Given the description of an element on the screen output the (x, y) to click on. 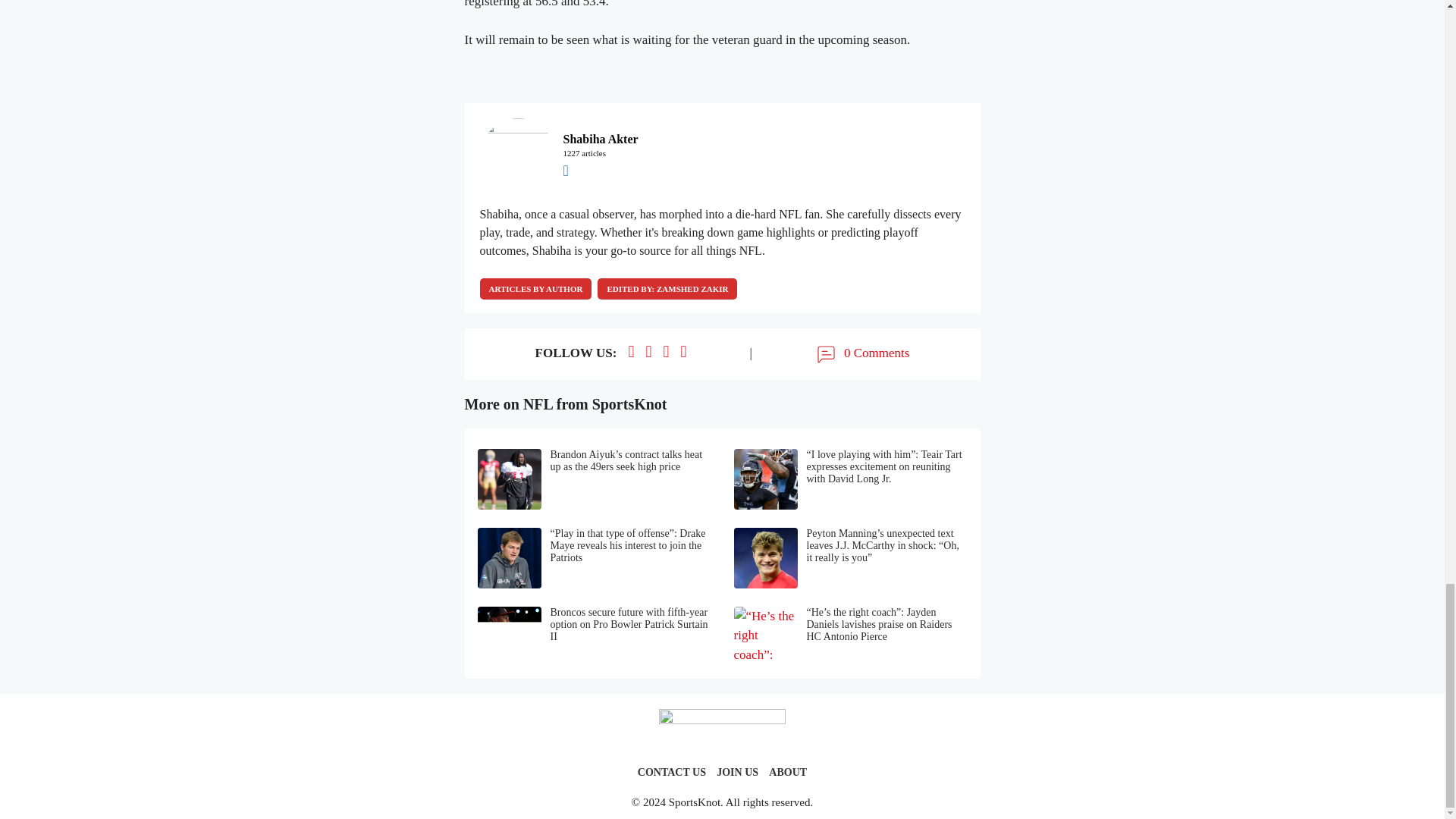
EDITED BY: ZAMSHED ZAKIR (666, 288)
ARTICLES BY AUTHOR (535, 288)
0 Comments (861, 353)
